Given the description of an element on the screen output the (x, y) to click on. 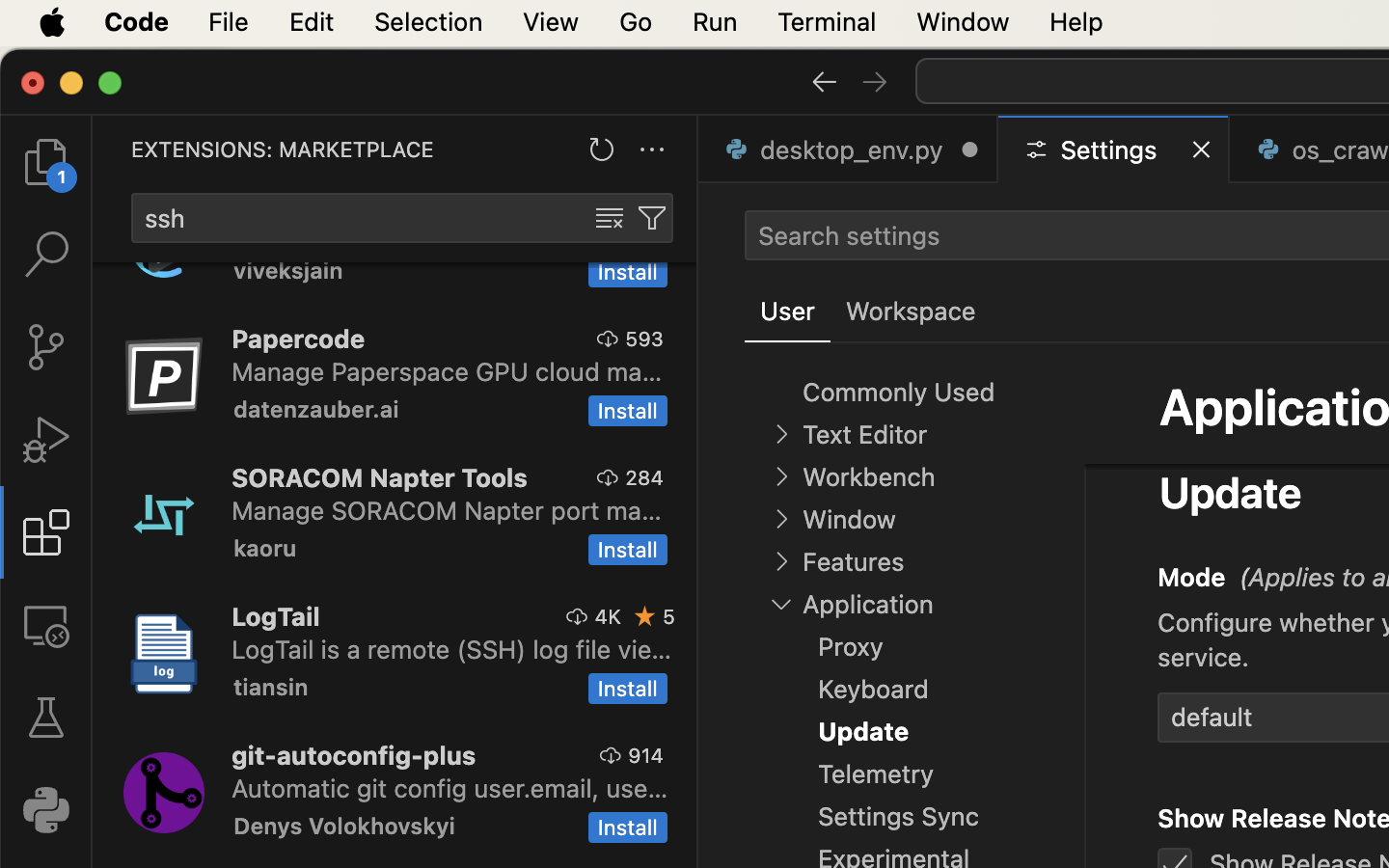
Mode Element type: AXStaticText (1191, 577)
LogTail Element type: AXStaticText (275, 615)
593 Element type: AXStaticText (644, 338)
EXTENSIONS: MARKETPLACE Element type: AXStaticText (282, 149)
 Element type: AXStaticText (780, 433)
